Given the description of an element on the screen output the (x, y) to click on. 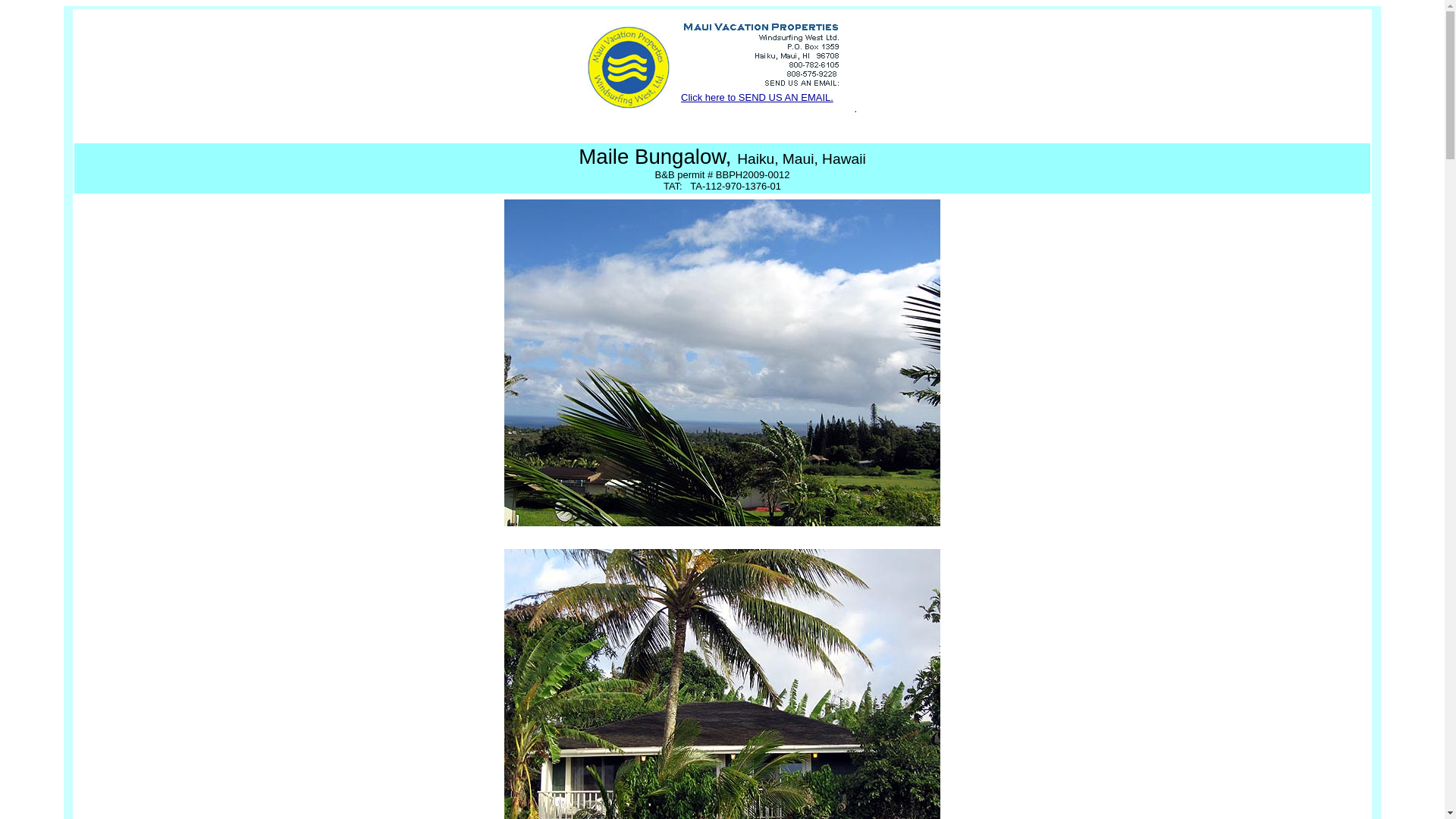
Click here to SEND US AN EMAIL. Element type: text (756, 97)
